Given the description of an element on the screen output the (x, y) to click on. 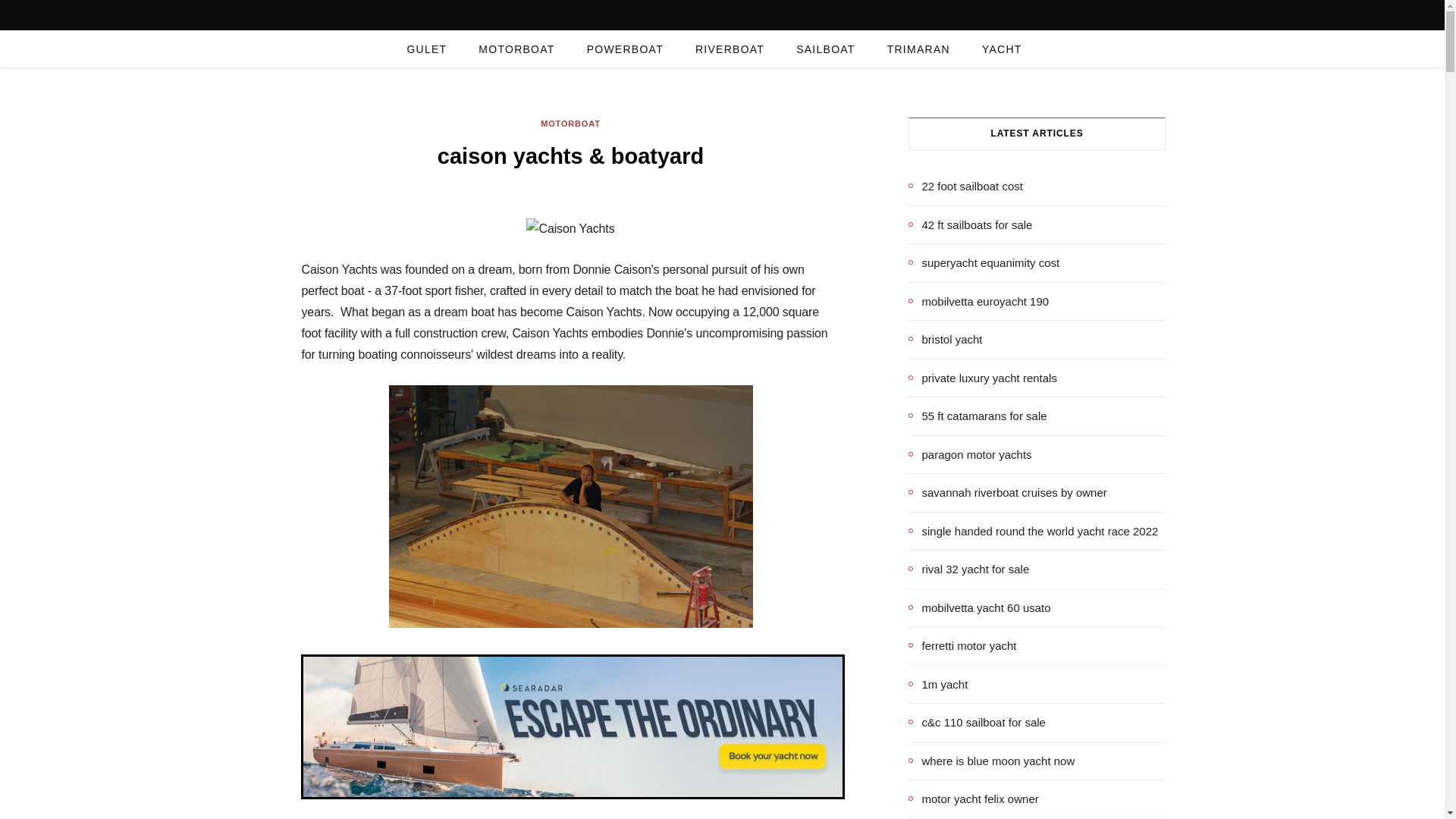
POWERBOAT (624, 48)
mobilvetta euroyacht 190 (978, 301)
SAILBOAT (825, 48)
rival 32 yacht for sale (968, 569)
MOTORBOAT (516, 48)
ferretti motor yacht (962, 646)
RIVERBOAT (729, 48)
bristol yacht (945, 339)
single handed round the world yacht race 2022 (1033, 531)
mobilvetta yacht 60 usato (979, 607)
